Given the description of an element on the screen output the (x, y) to click on. 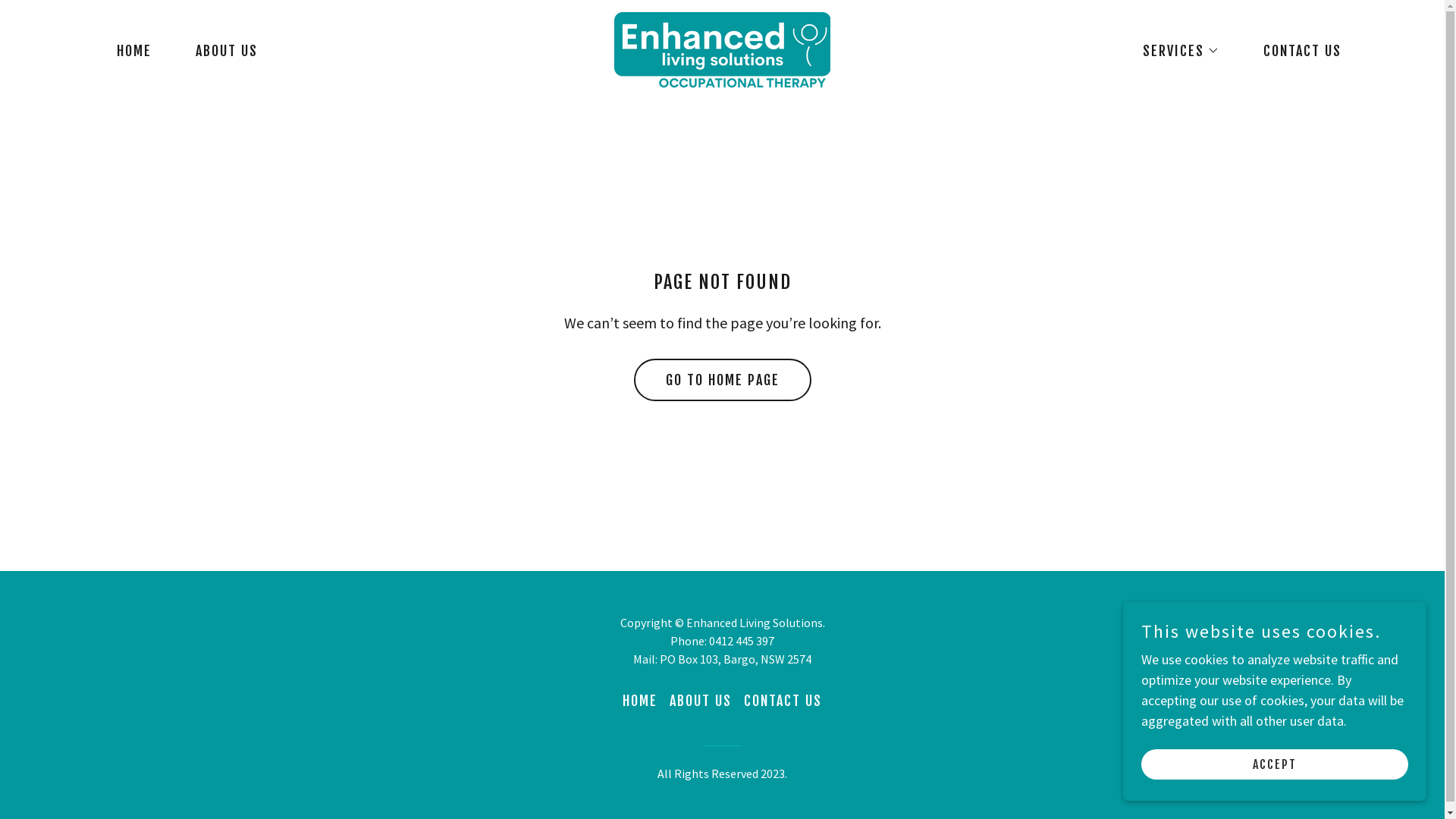
CONTACT US Element type: text (1295, 49)
SERVICES Element type: text (1174, 49)
GO TO HOME PAGE Element type: text (722, 379)
ABOUT US Element type: text (700, 700)
HOME Element type: text (639, 700)
ACCEPT Element type: text (1274, 764)
HOME Element type: text (127, 49)
CONTACT US Element type: text (782, 700)
ABOUT US Element type: text (219, 49)
